Given the description of an element on the screen output the (x, y) to click on. 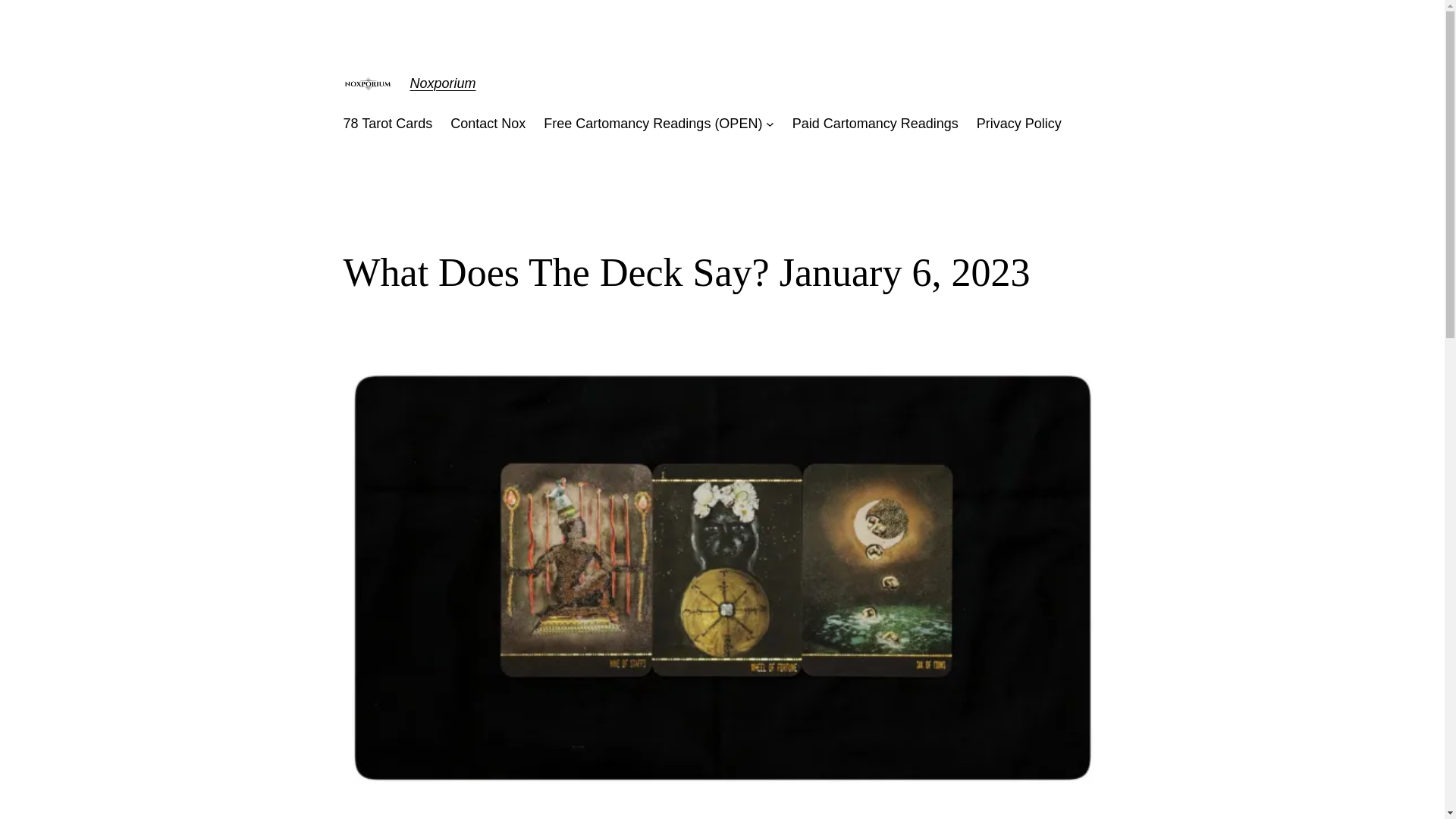
Paid Cartomancy Readings (875, 124)
Privacy Policy (1018, 124)
Noxporium (442, 83)
78 Tarot Cards (387, 124)
Contact Nox (487, 124)
